Given the description of an element on the screen output the (x, y) to click on. 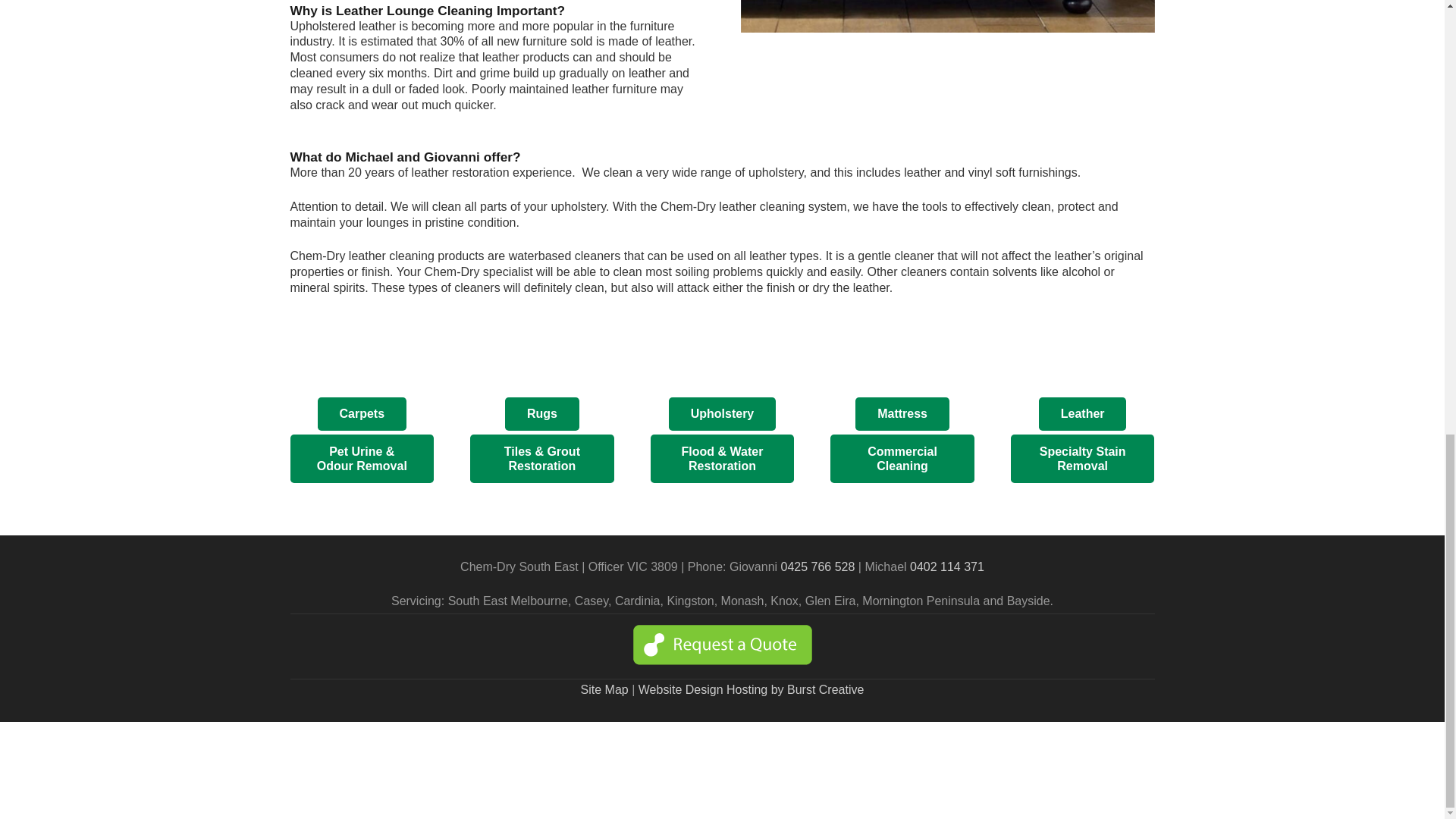
Leather (1082, 414)
Mattress (902, 414)
0402 114 371 (947, 566)
0425 766 528 (818, 566)
Site Map (604, 689)
Rugs (542, 414)
Commercial Cleaning (901, 458)
Carpets (361, 414)
Specialty Stain Removal (1082, 458)
Upholstery (722, 414)
Website Design Hosting by Burst Creative (751, 689)
